Given the description of an element on the screen output the (x, y) to click on. 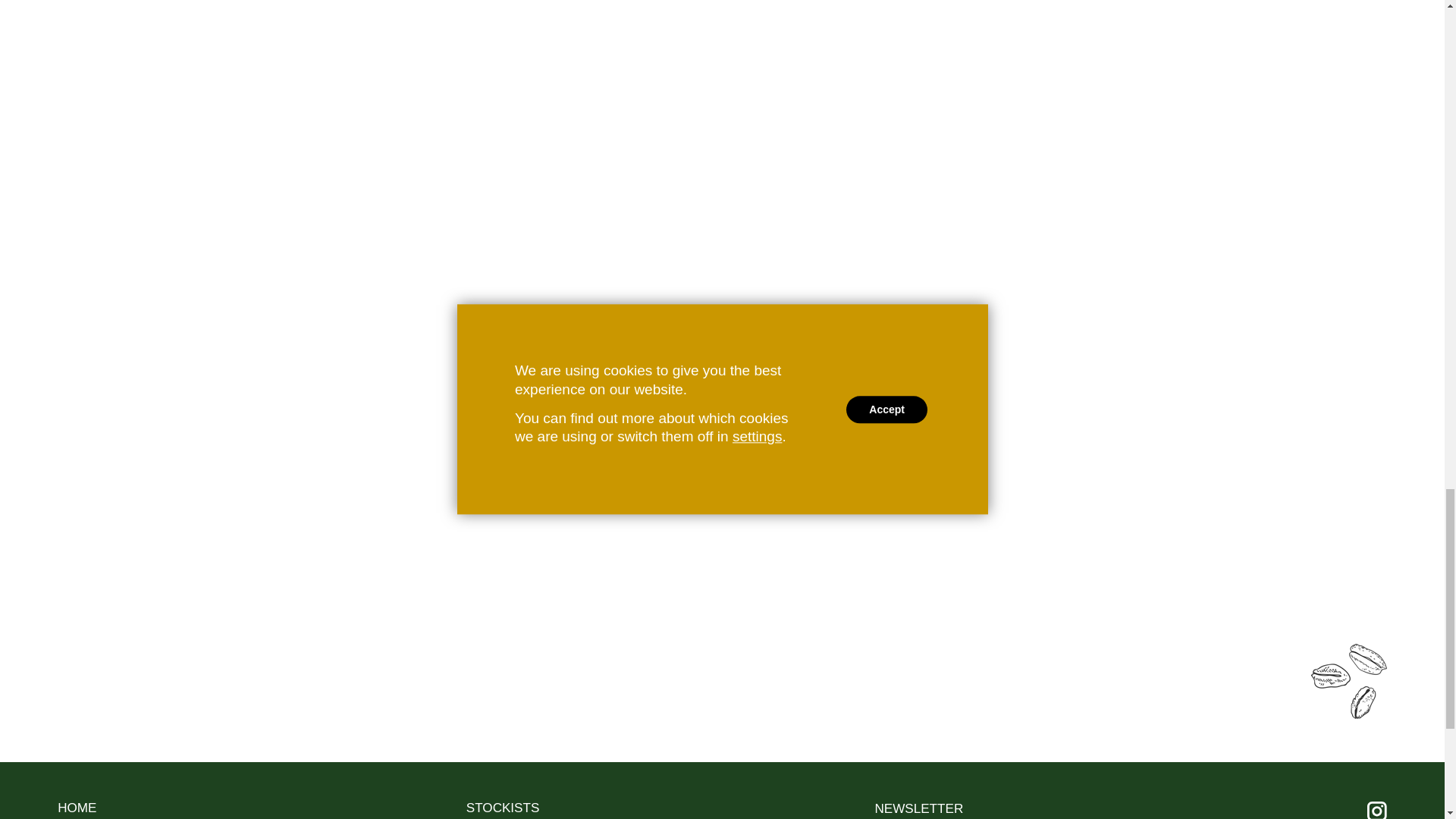
Instagram (1376, 810)
